Given the description of an element on the screen output the (x, y) to click on. 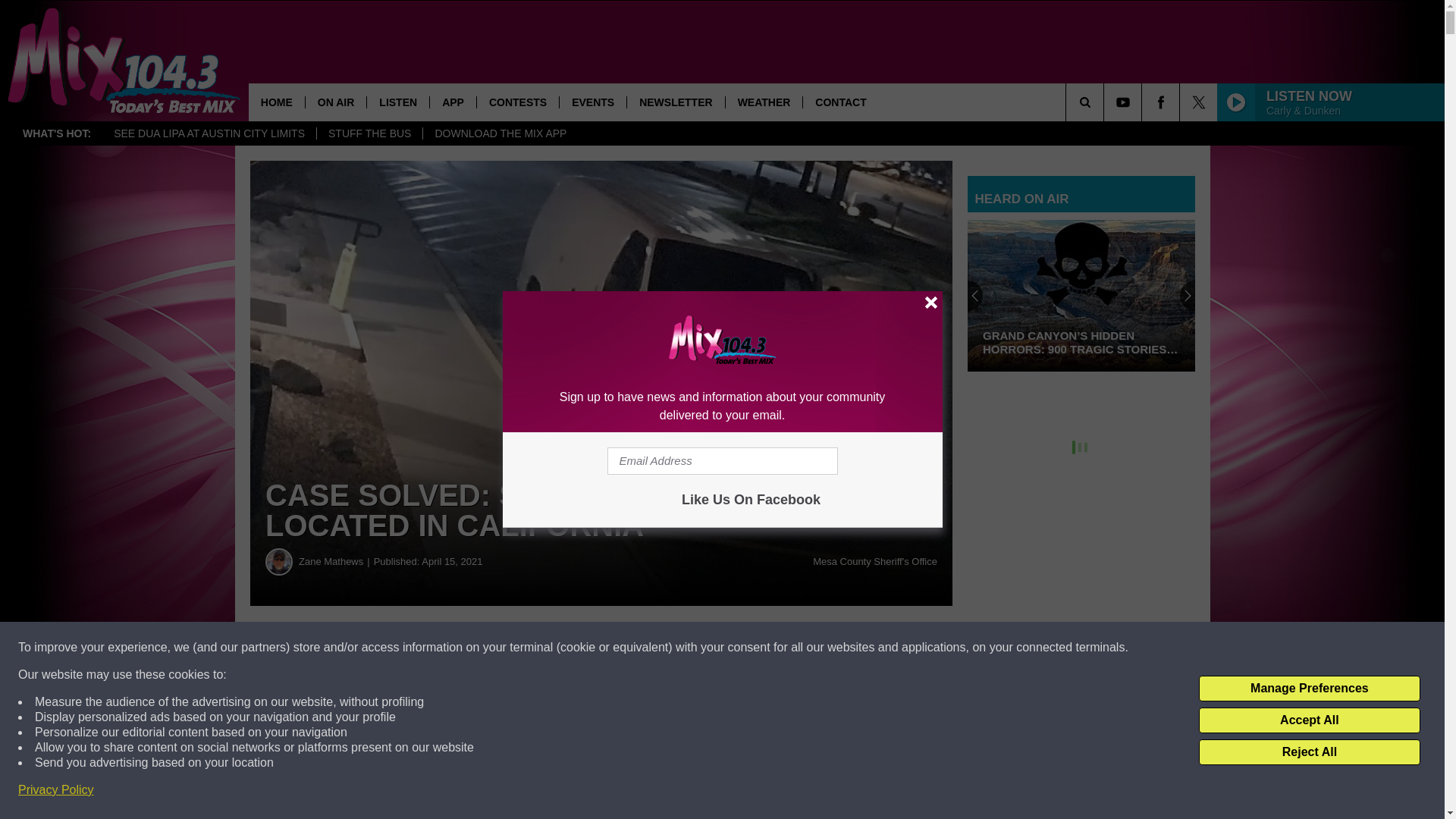
Share on Facebook (460, 647)
NEWSLETTER (674, 102)
APP (452, 102)
WHAT'S HOT: (56, 133)
Email Address (722, 461)
DOWNLOAD THE MIX APP (500, 133)
HOME (276, 102)
SEE DUA LIPA AT AUSTIN CITY LIMITS (208, 133)
Manage Preferences (1309, 688)
SEARCH (1106, 102)
EVENTS (592, 102)
SEARCH (1106, 102)
STUFF THE BUS (368, 133)
ON AIR (335, 102)
CONTESTS (517, 102)
